Given the description of an element on the screen output the (x, y) to click on. 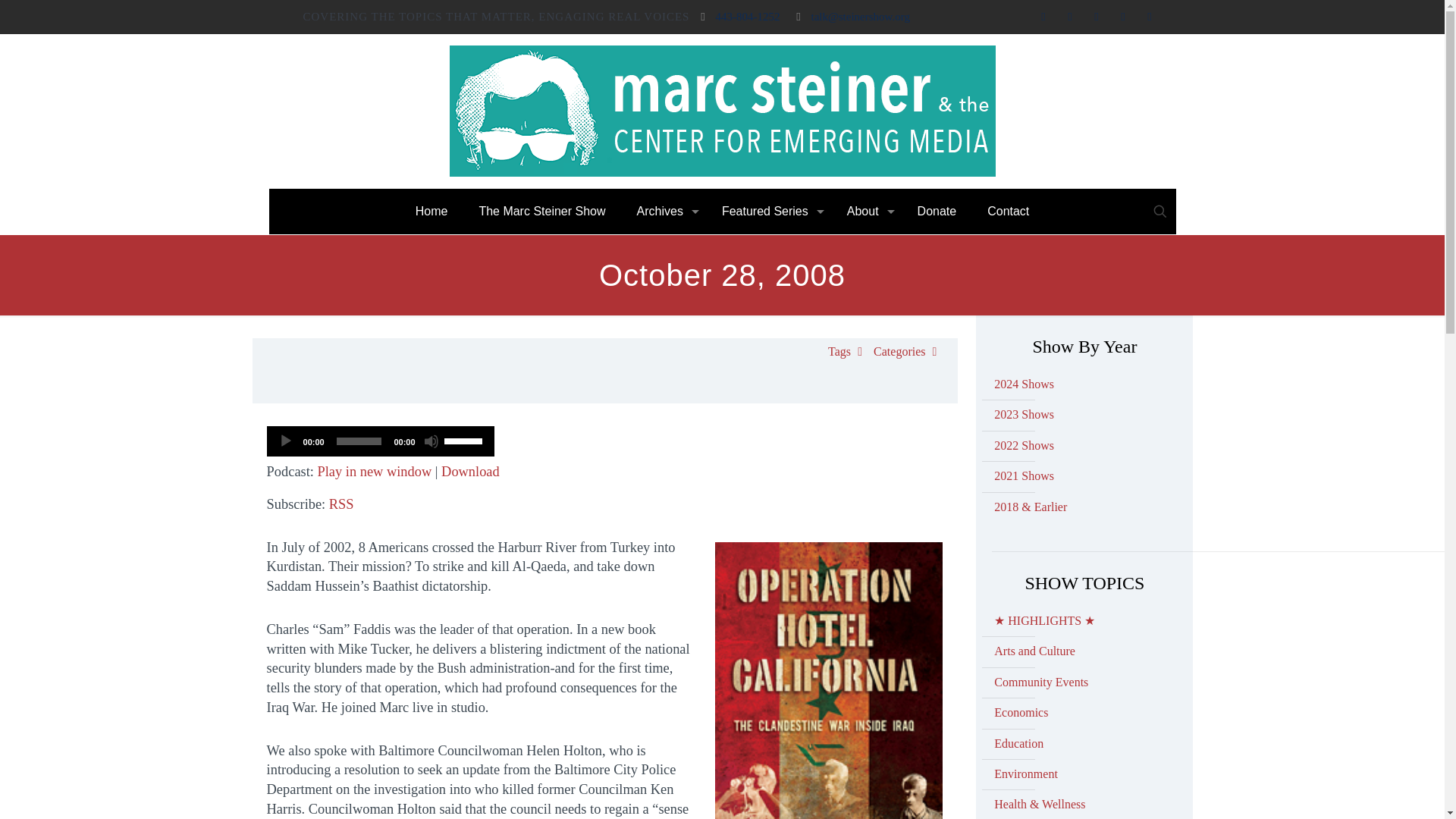
Download (470, 471)
443-804-1252 (747, 16)
Archives (663, 211)
Facebook (1043, 16)
Play in new window (374, 471)
YouTube (1097, 16)
Home (432, 211)
The Marc Steiner Show (721, 111)
Instagram (1123, 16)
Subscribe via RSS (341, 503)
Mute (431, 441)
Play (286, 441)
The Marc Steiner Show (542, 211)
